Given the description of an element on the screen output the (x, y) to click on. 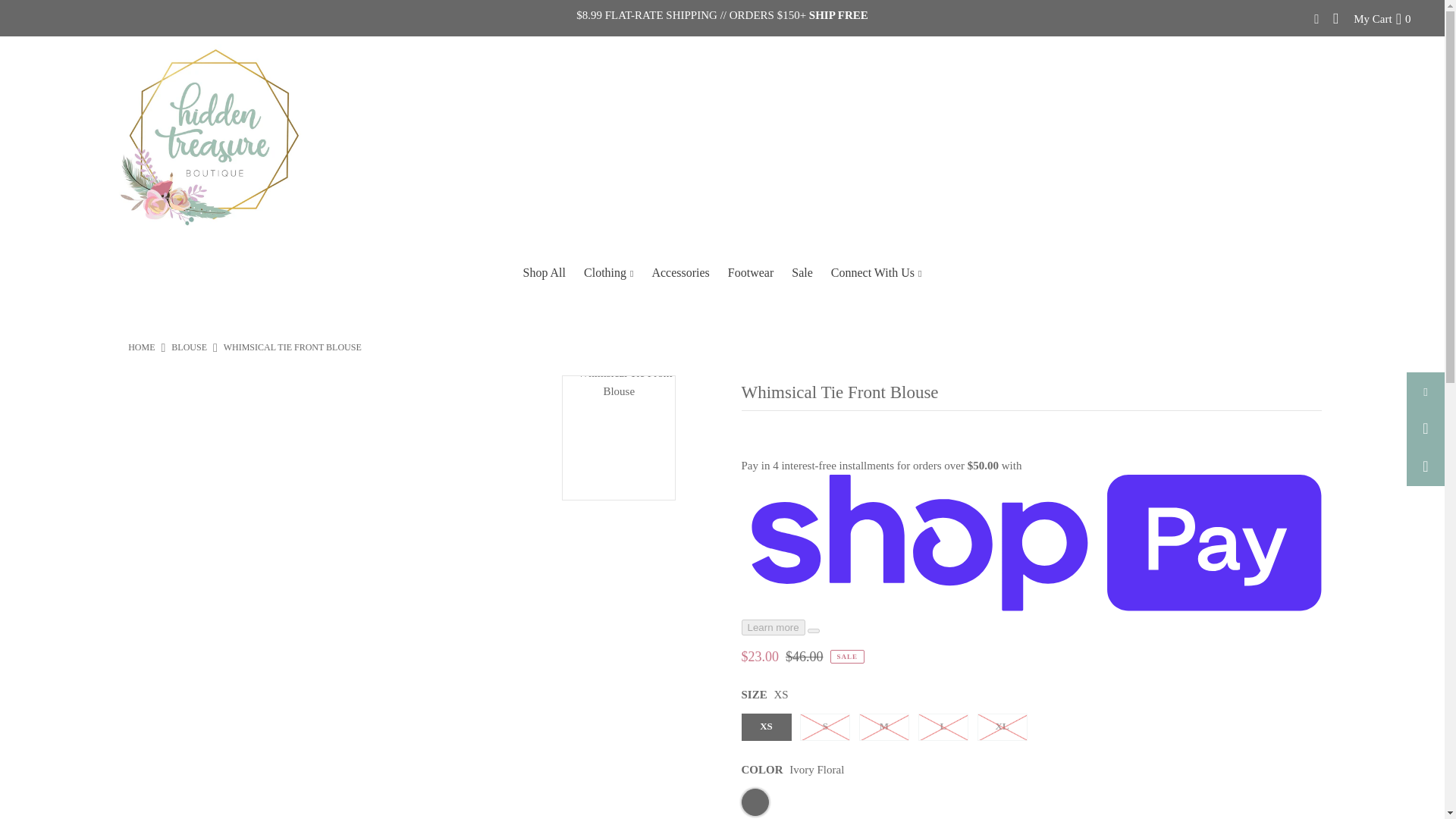
Clothing (608, 272)
Blouse (188, 347)
Shop All (544, 272)
My Cart0 (1382, 18)
Home (141, 347)
